Given the description of an element on the screen output the (x, y) to click on. 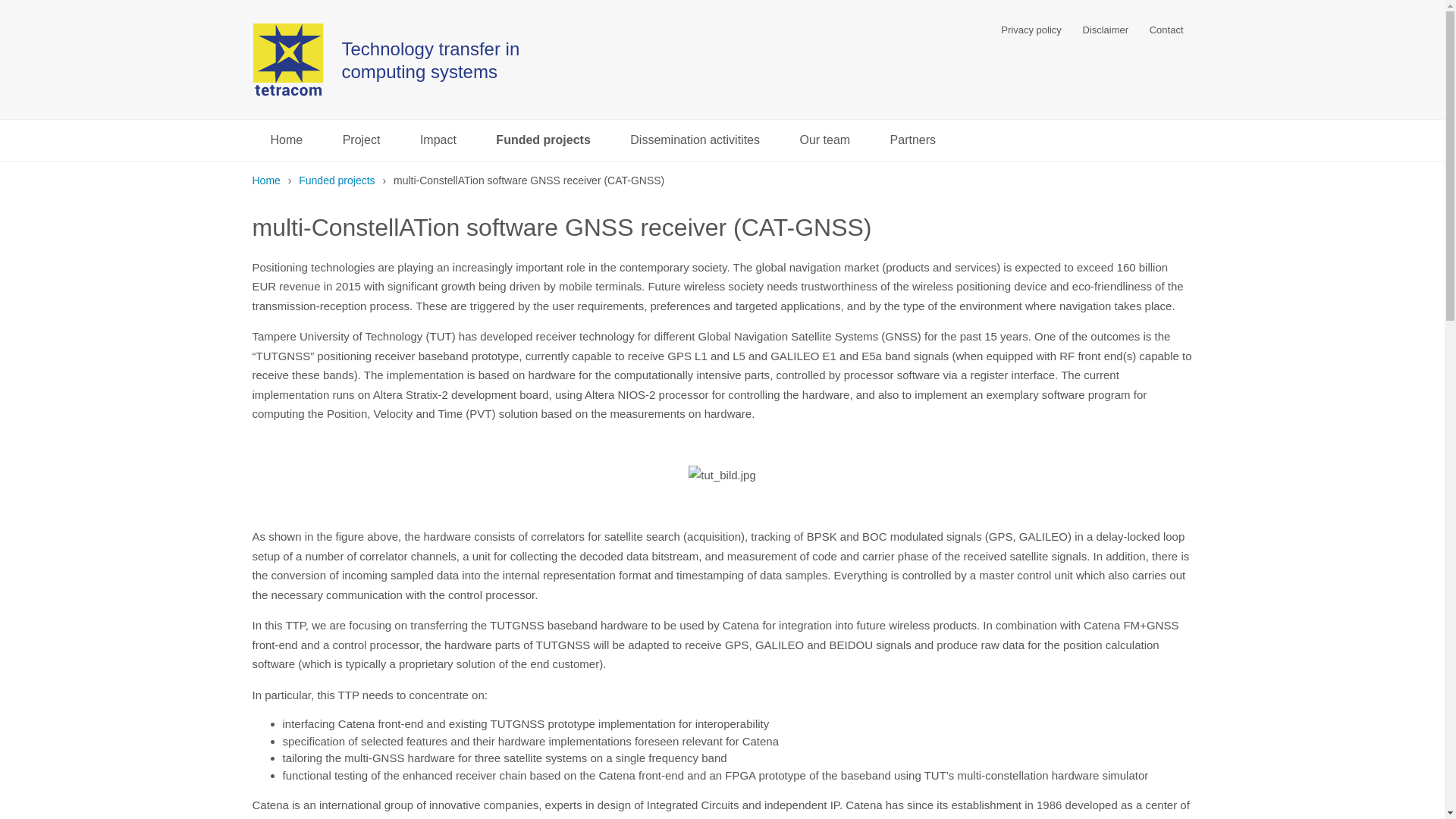
Funded projects (542, 139)
Disclaimer (1104, 30)
Contact (1166, 30)
Our team (823, 139)
Privacy policy (1031, 30)
Funded projects (336, 180)
Impact (437, 139)
Home (265, 180)
Project (361, 139)
TETRACOM (287, 59)
Partners (912, 139)
Home (285, 139)
Dissemination activitites (694, 139)
